Given the description of an element on the screen output the (x, y) to click on. 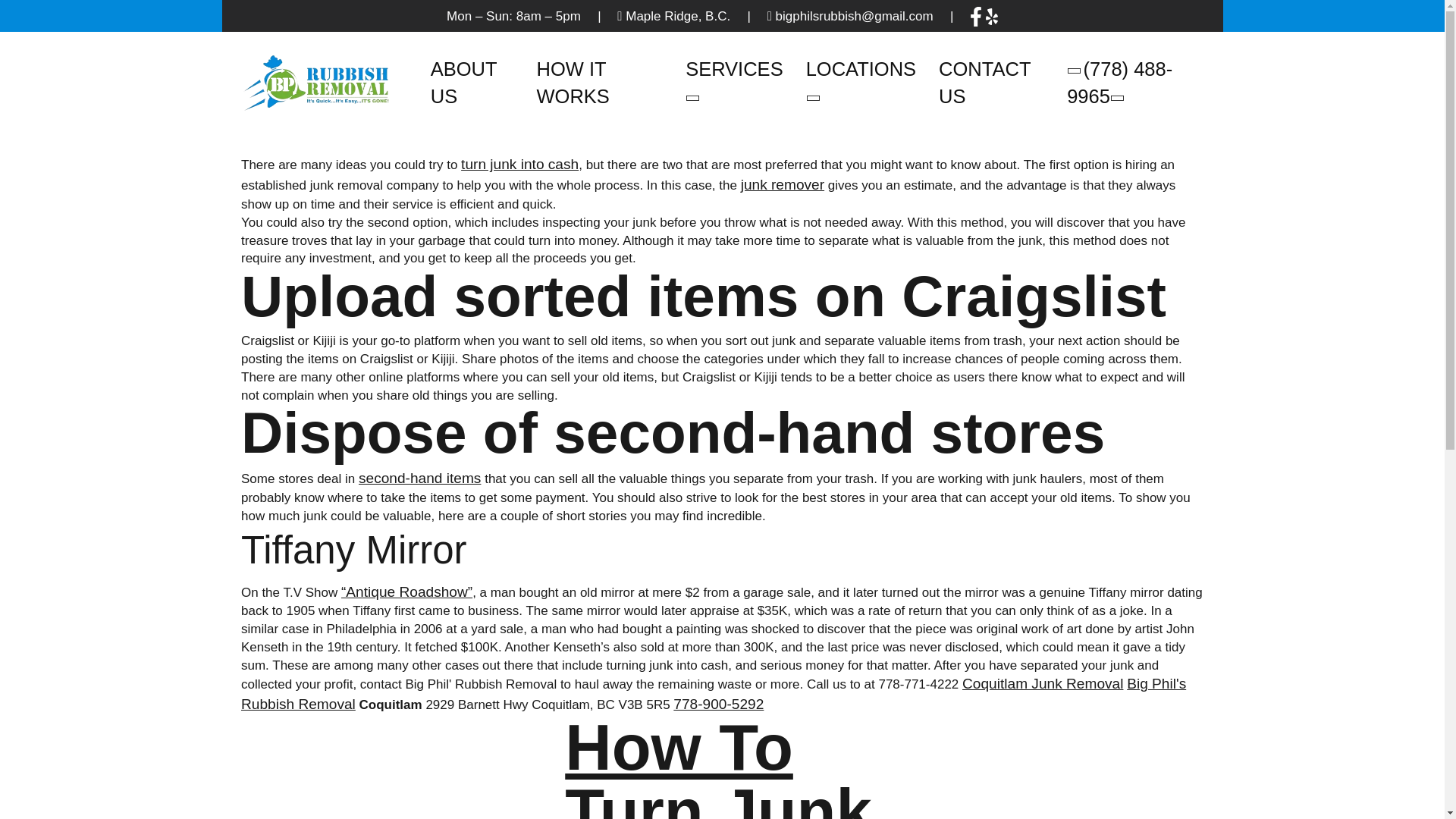
ABOUT US (472, 82)
HOW IT WORKS (599, 82)
Maple Ridge, B.C. (678, 16)
LOCATIONS (860, 82)
SERVICES (734, 82)
